Given the description of an element on the screen output the (x, y) to click on. 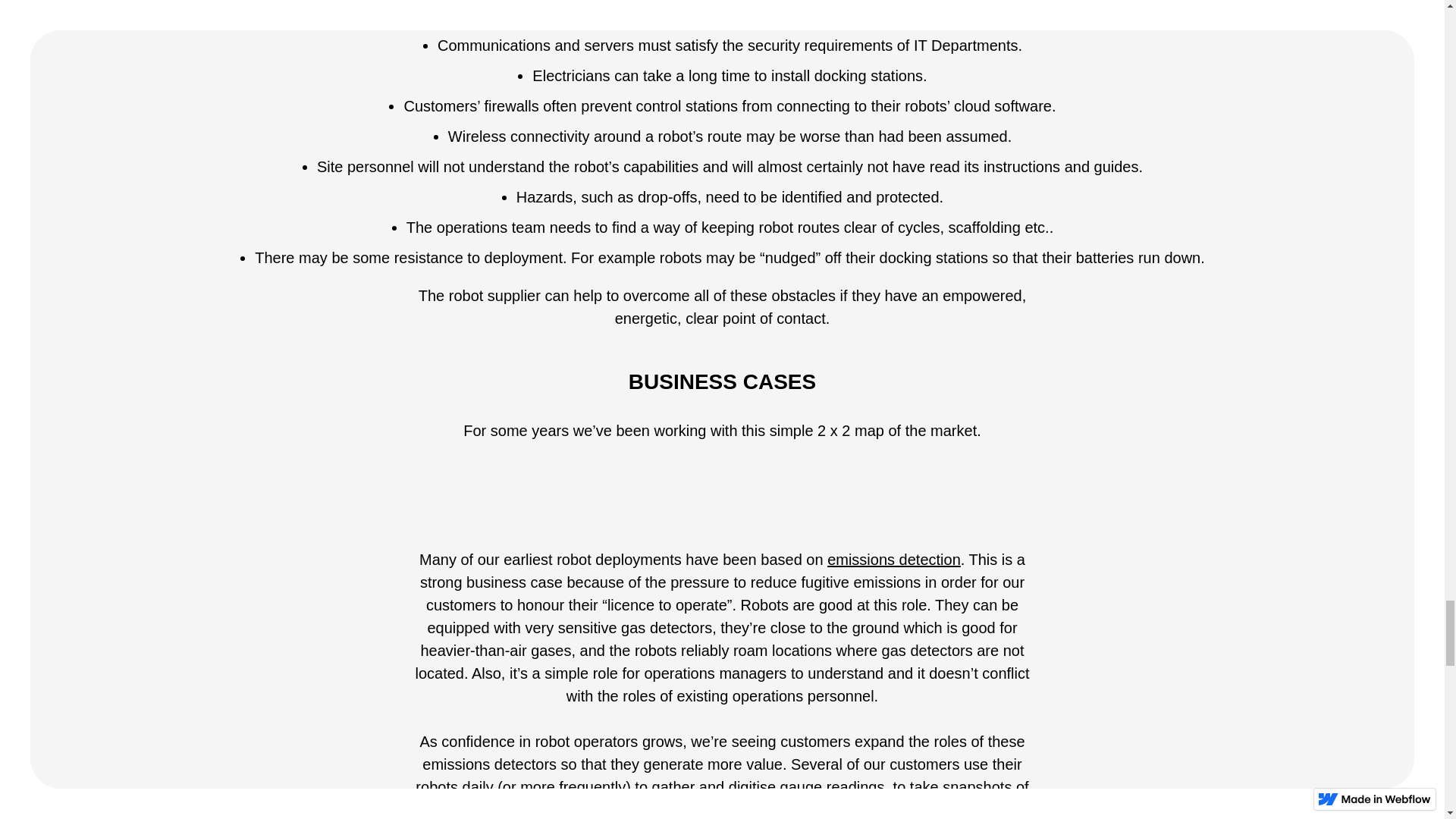
emissions detection (893, 559)
